Given the description of an element on the screen output the (x, y) to click on. 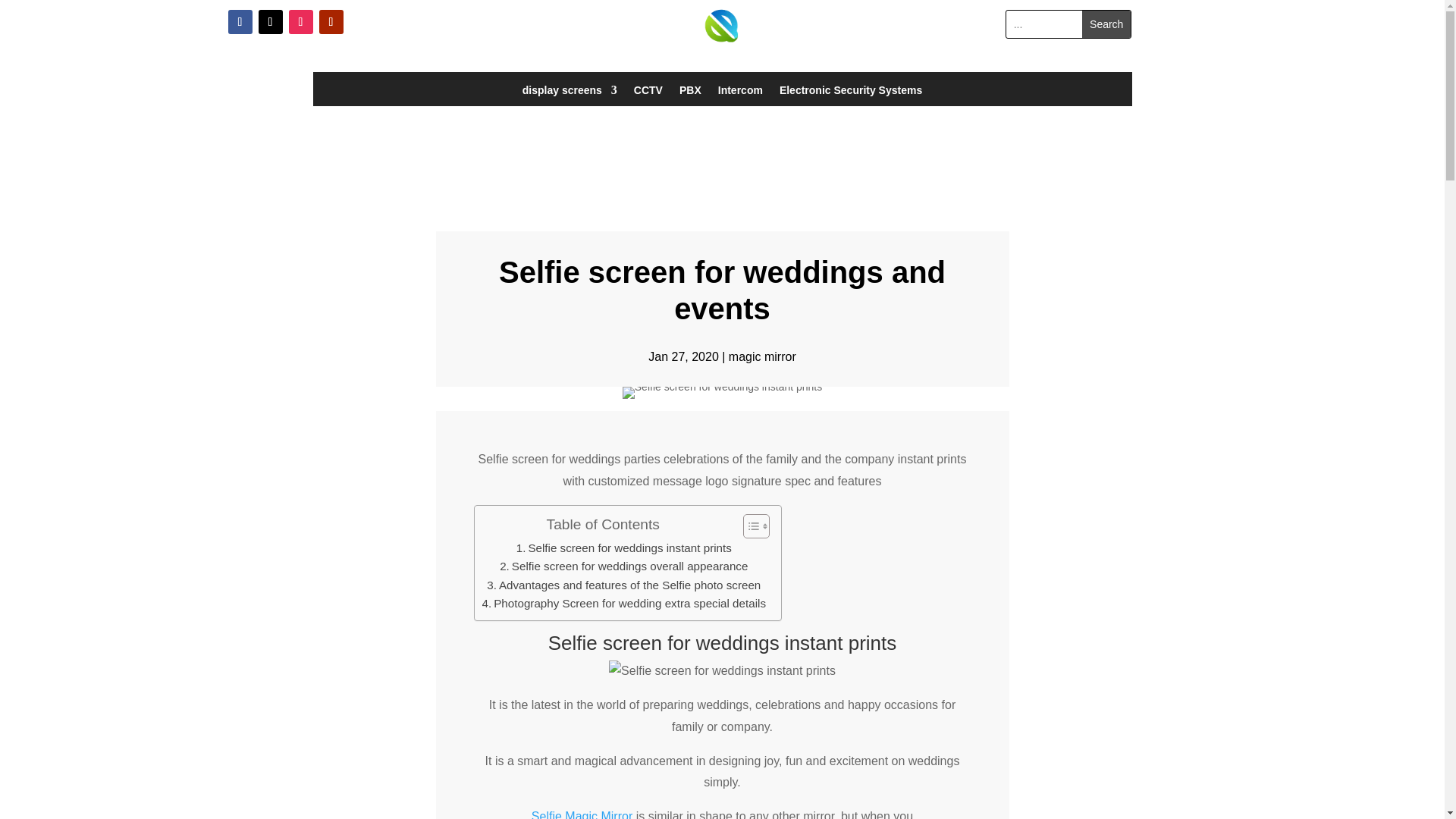
Selfie Magic Mirror (581, 814)
Selfie screen for weddings overall appearance (623, 566)
Photography Screen for wedding extra special details (624, 603)
Follow on Instagram (300, 21)
Follow on X (269, 21)
Intercom (739, 93)
Follow on Facebook (239, 21)
Follow on Youtube (330, 21)
Search (1106, 23)
Selfie screen for weddings instant prints (624, 547)
Advantages and features of the Selfie photo screen (623, 585)
Search (1106, 23)
Selfie screen for weddings instant prints (722, 386)
display screens (569, 93)
Selfie screen for weddings overall appearance (623, 566)
